Given the description of an element on the screen output the (x, y) to click on. 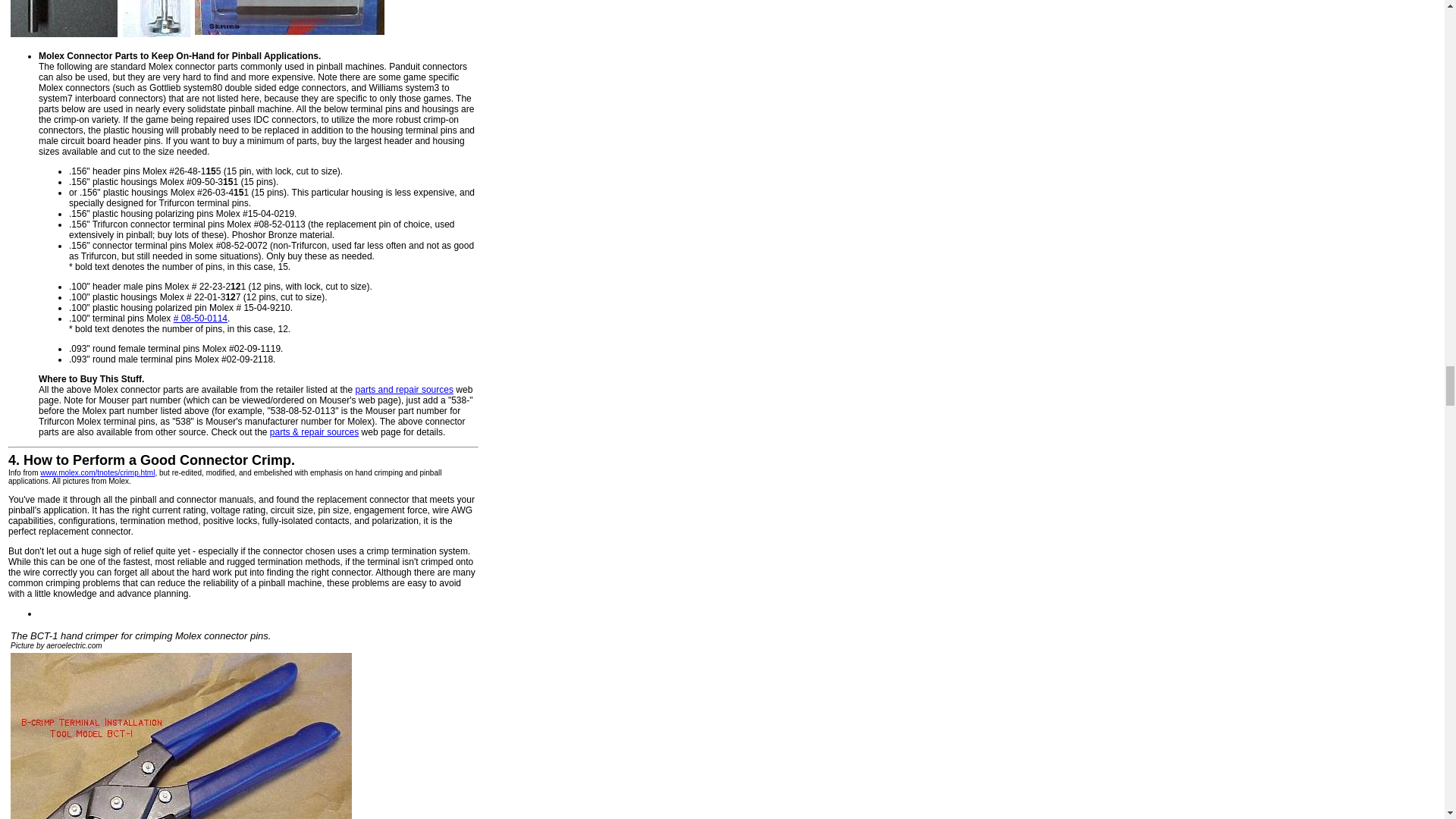
parts and repair sources (403, 389)
